Given the description of an element on the screen output the (x, y) to click on. 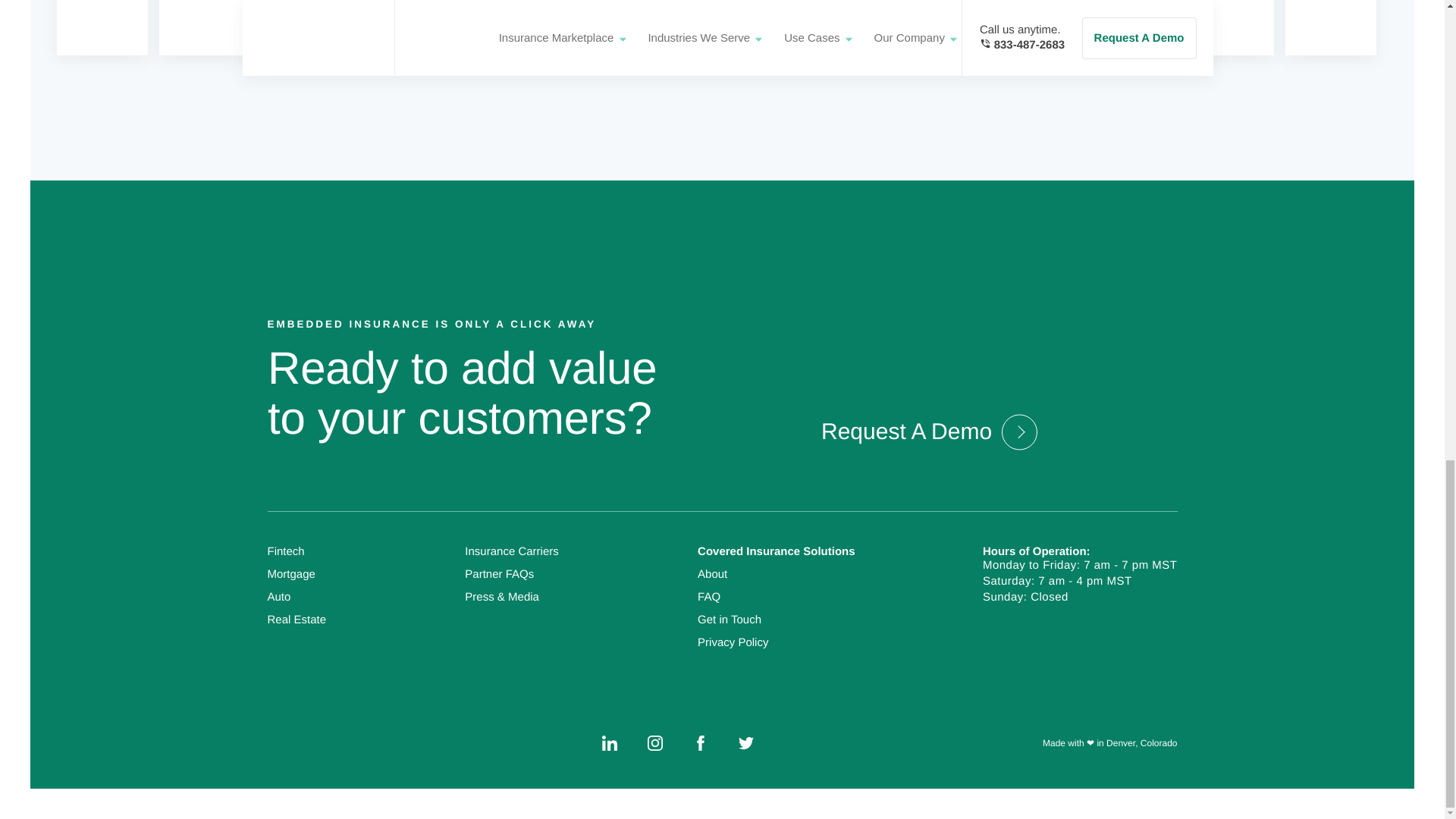
Facebook IconFacebook Icon (700, 743)
LinkedIn IconLinkedIn Icon (609, 743)
Twitter IconTwitter Icon (746, 743)
Fintech (285, 551)
Instagram IconInstagram Icon (654, 743)
